Given the description of an element on the screen output the (x, y) to click on. 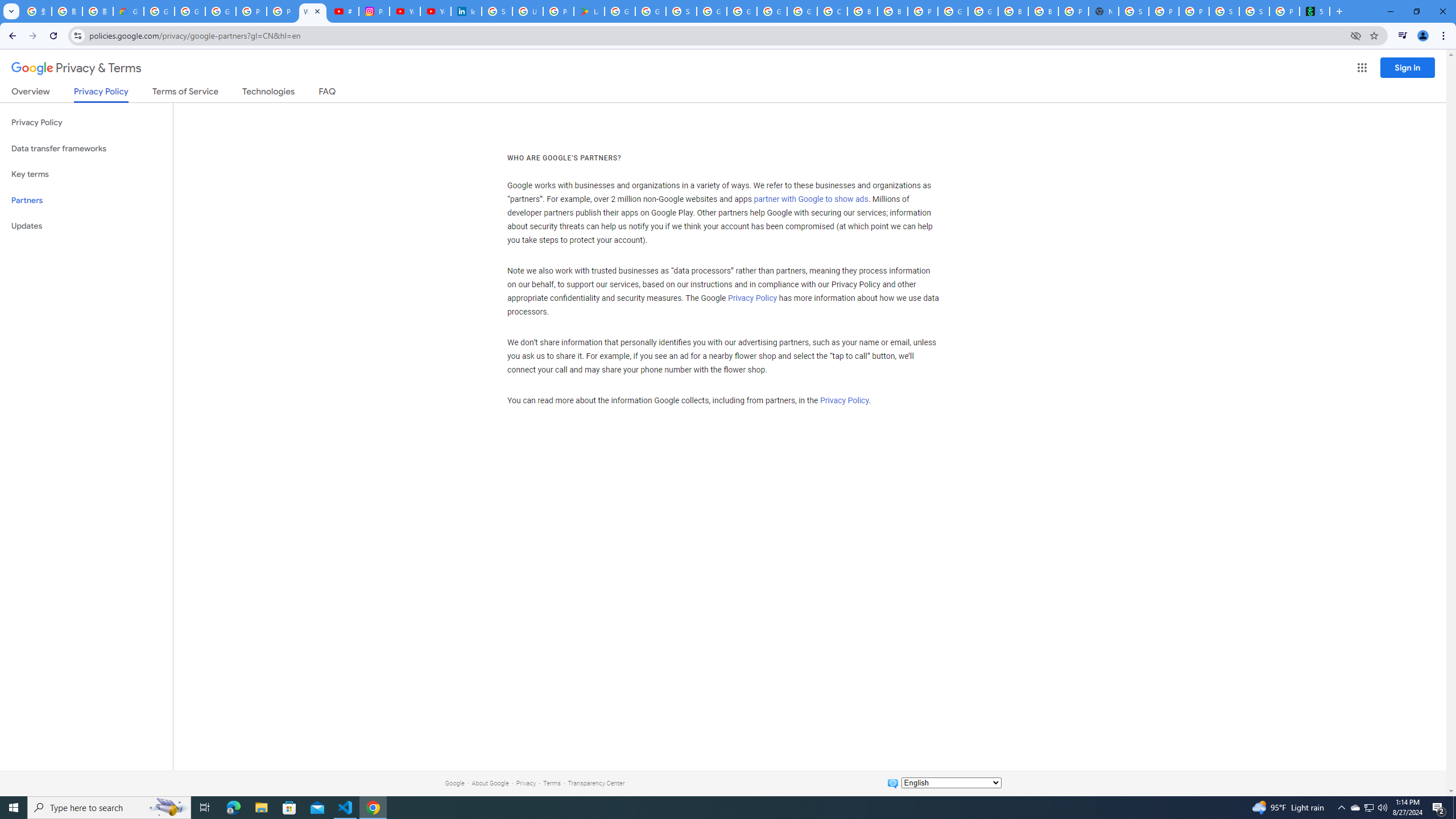
partner with Google to show ads (810, 199)
YouTube Culture & Trends - YouTube Top 10, 2021 (434, 11)
Google Workspace - Specific Terms (650, 11)
Sign in - Google Accounts (496, 11)
Browse Chrome as a guest - Computer - Google Chrome Help (862, 11)
